Given the description of an element on the screen output the (x, y) to click on. 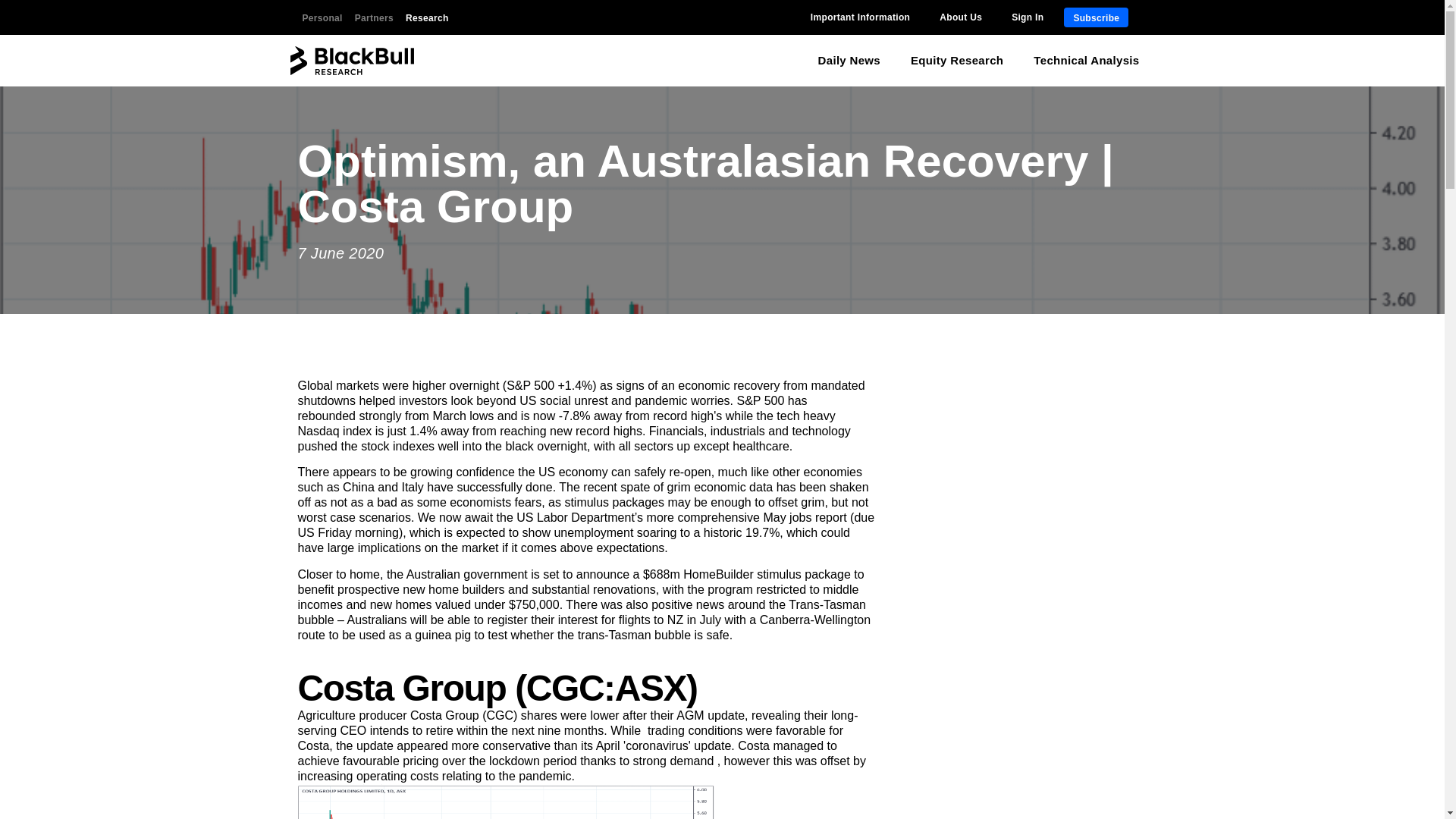
Research (426, 17)
About Us (960, 16)
Technical Analysis (1085, 60)
Personal (321, 17)
Subscribe (1096, 17)
Important Information (860, 16)
Sign In (1027, 16)
Daily News (849, 60)
Equity Research (956, 60)
Partners (373, 17)
